Given the description of an element on the screen output the (x, y) to click on. 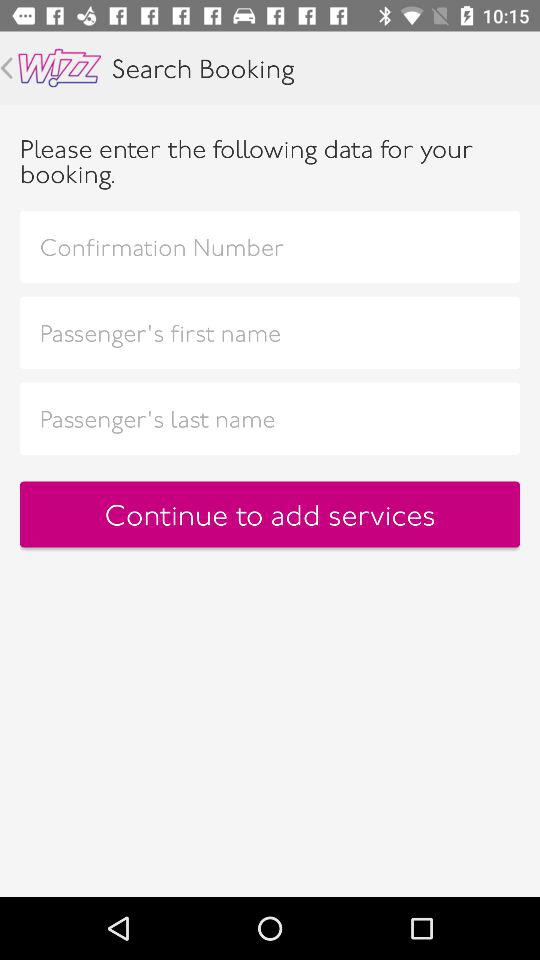
enter passenger 's last name (269, 418)
